Given the description of an element on the screen output the (x, y) to click on. 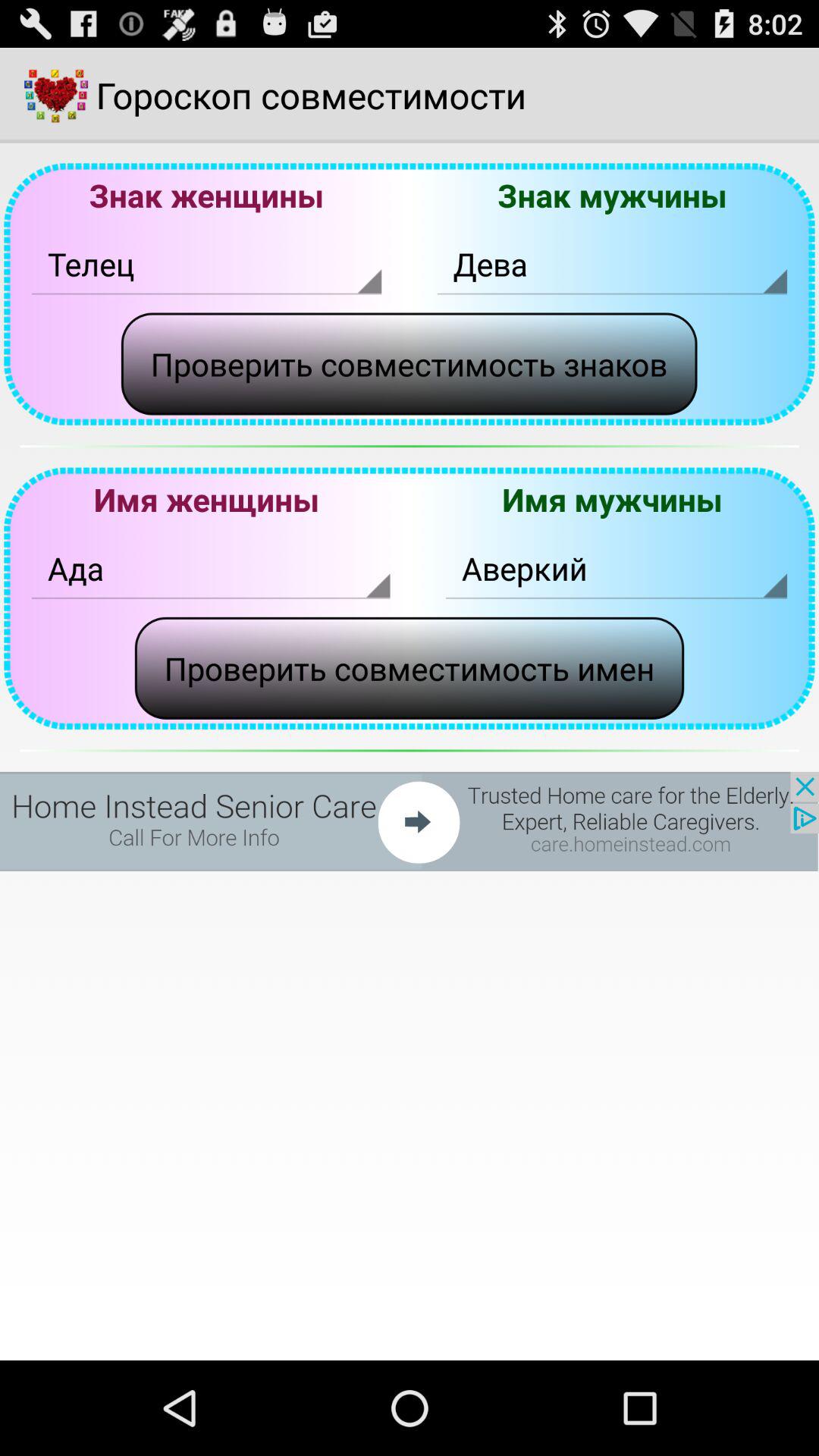
select the red color image in the first row (55, 95)
